Given the description of an element on the screen output the (x, y) to click on. 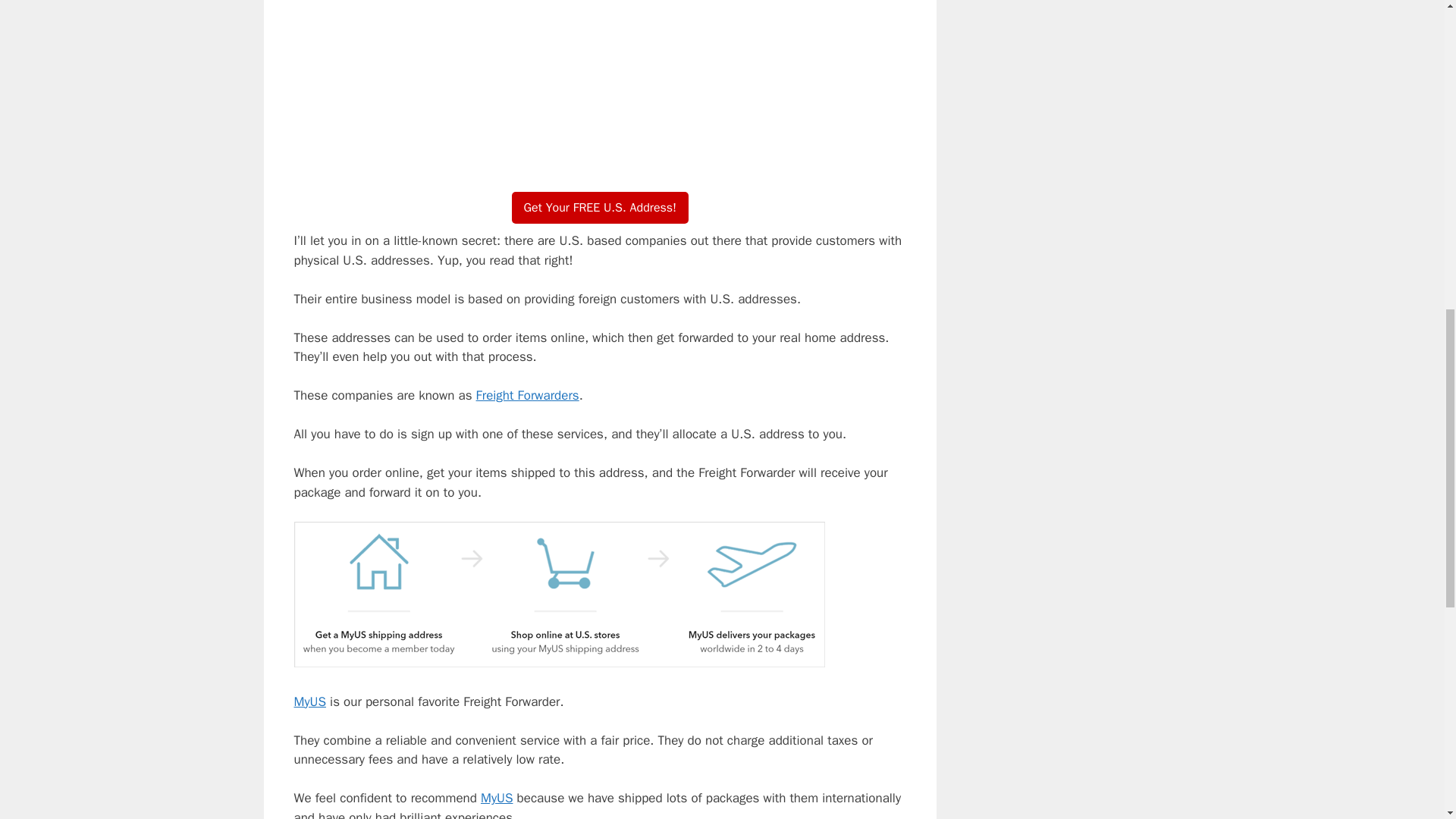
Get Your FREE U.S. Address! (600, 207)
MyUS (600, 207)
Freight Forwarders (527, 395)
MyUS.com: How it Works (600, 83)
MyUS (310, 700)
MyUS (496, 797)
MyUS (310, 700)
MyUS (527, 395)
MyUS (496, 797)
MyUS (559, 662)
